Given the description of an element on the screen output the (x, y) to click on. 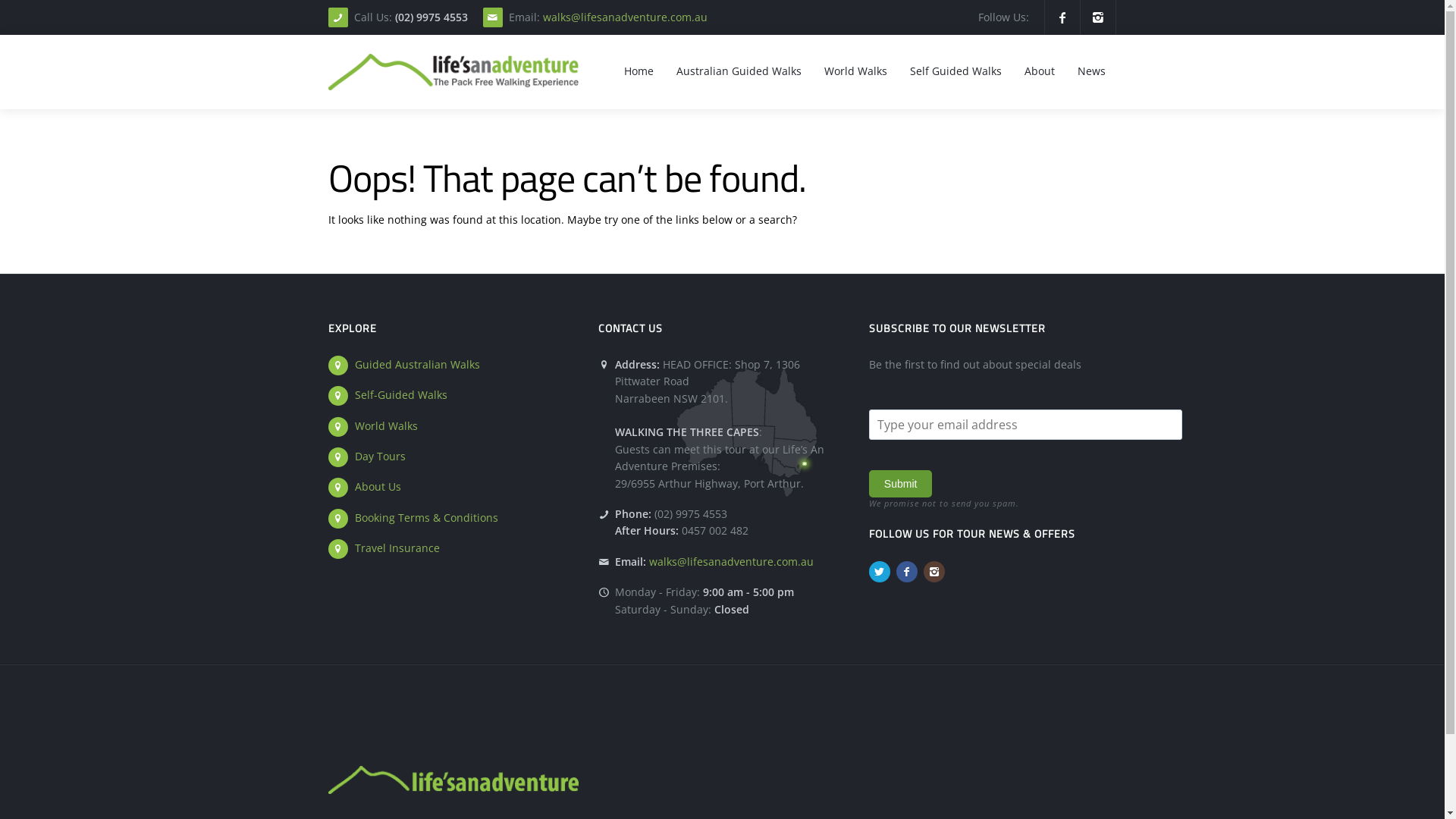
walks@lifesanadventure.com.au Element type: text (624, 17)
Booking Terms & Conditions Element type: text (426, 517)
Travel Insurance Element type: text (396, 547)
World Walks Element type: text (854, 70)
Self-Guided Walks Element type: text (400, 394)
Guided Australian Walks Element type: text (417, 364)
Home Element type: text (637, 70)
Self Guided Walks Element type: text (955, 70)
About Us Element type: text (377, 486)
News Element type: text (1090, 70)
Day Tours Element type: text (379, 455)
About Element type: text (1038, 70)
walks@lifesanadventure.com.au Element type: text (731, 561)
World Walks Element type: text (385, 425)
Australian Guided Walks Element type: text (738, 70)
Submit Element type: text (900, 483)
